Given the description of an element on the screen output the (x, y) to click on. 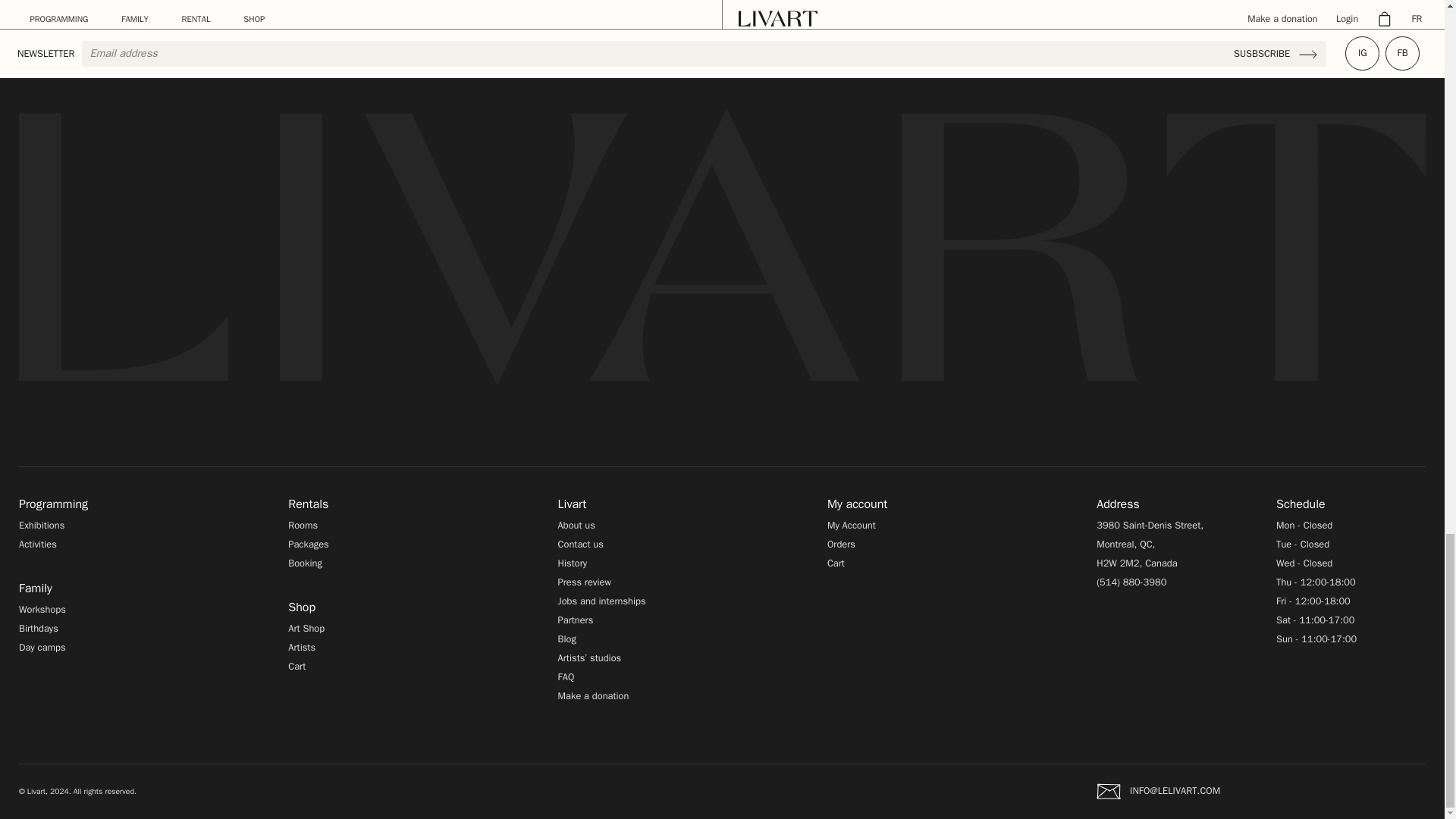
Instagram (1361, 53)
Facebook (1402, 53)
